Given the description of an element on the screen output the (x, y) to click on. 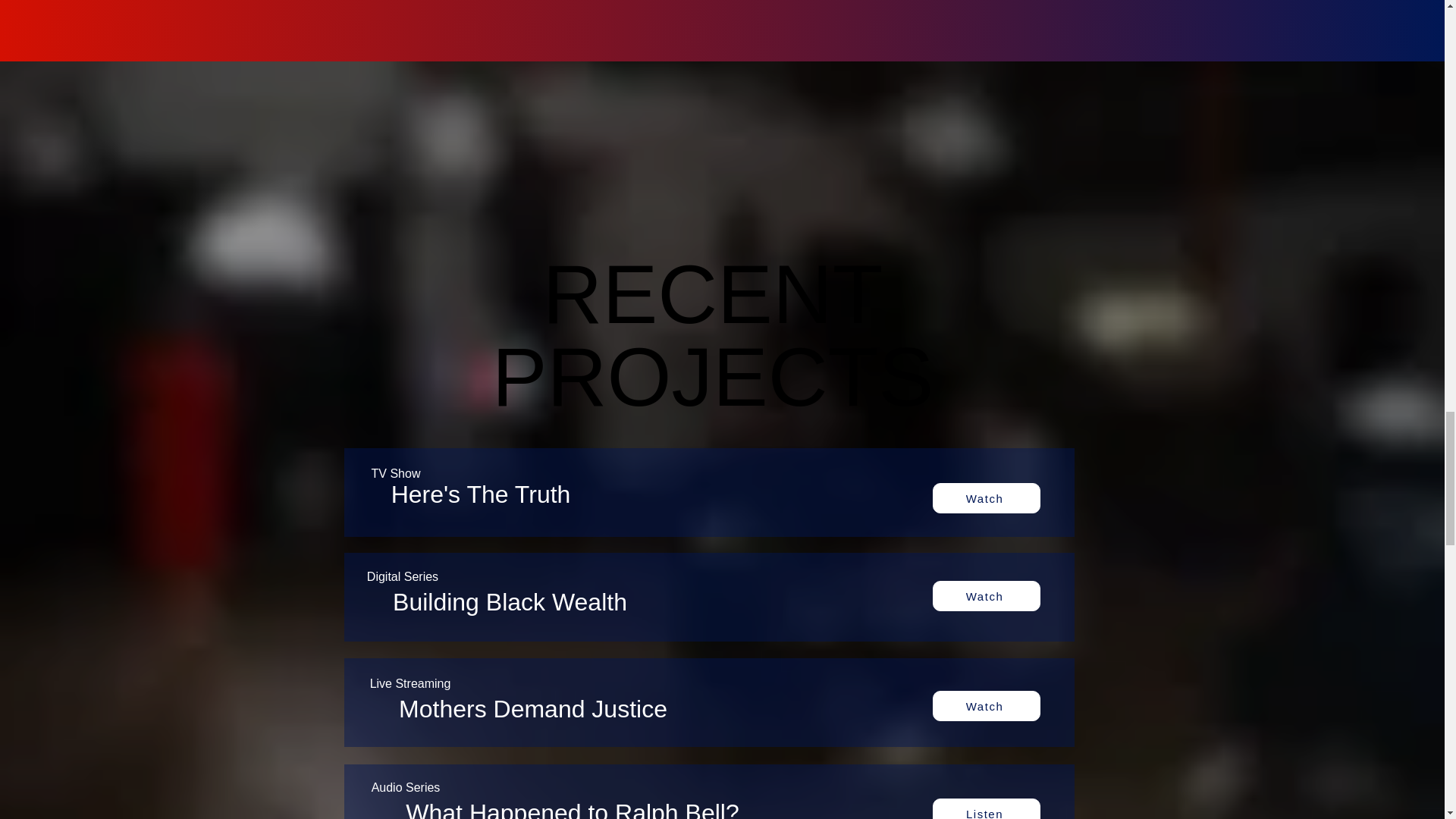
Watch (711, 351)
Watch (987, 595)
Listen (987, 498)
Watch (987, 808)
